Given the description of an element on the screen output the (x, y) to click on. 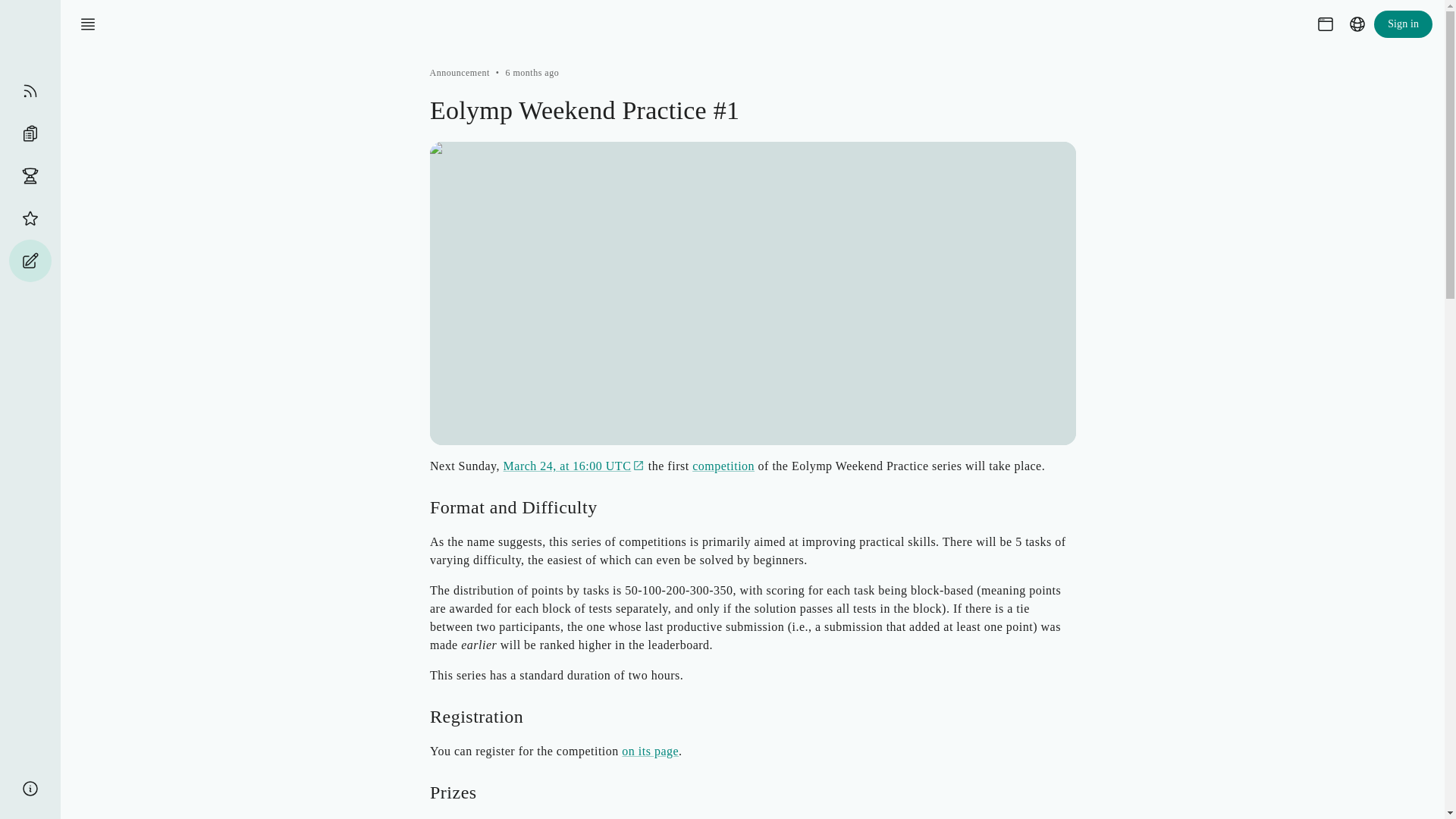
Mar 18, 2024, 9:21:48 AM (532, 72)
Sign in (1403, 23)
on its page (649, 750)
Announcement (459, 72)
competition (723, 465)
March 24, at 16:00 UTC (573, 465)
